Given the description of an element on the screen output the (x, y) to click on. 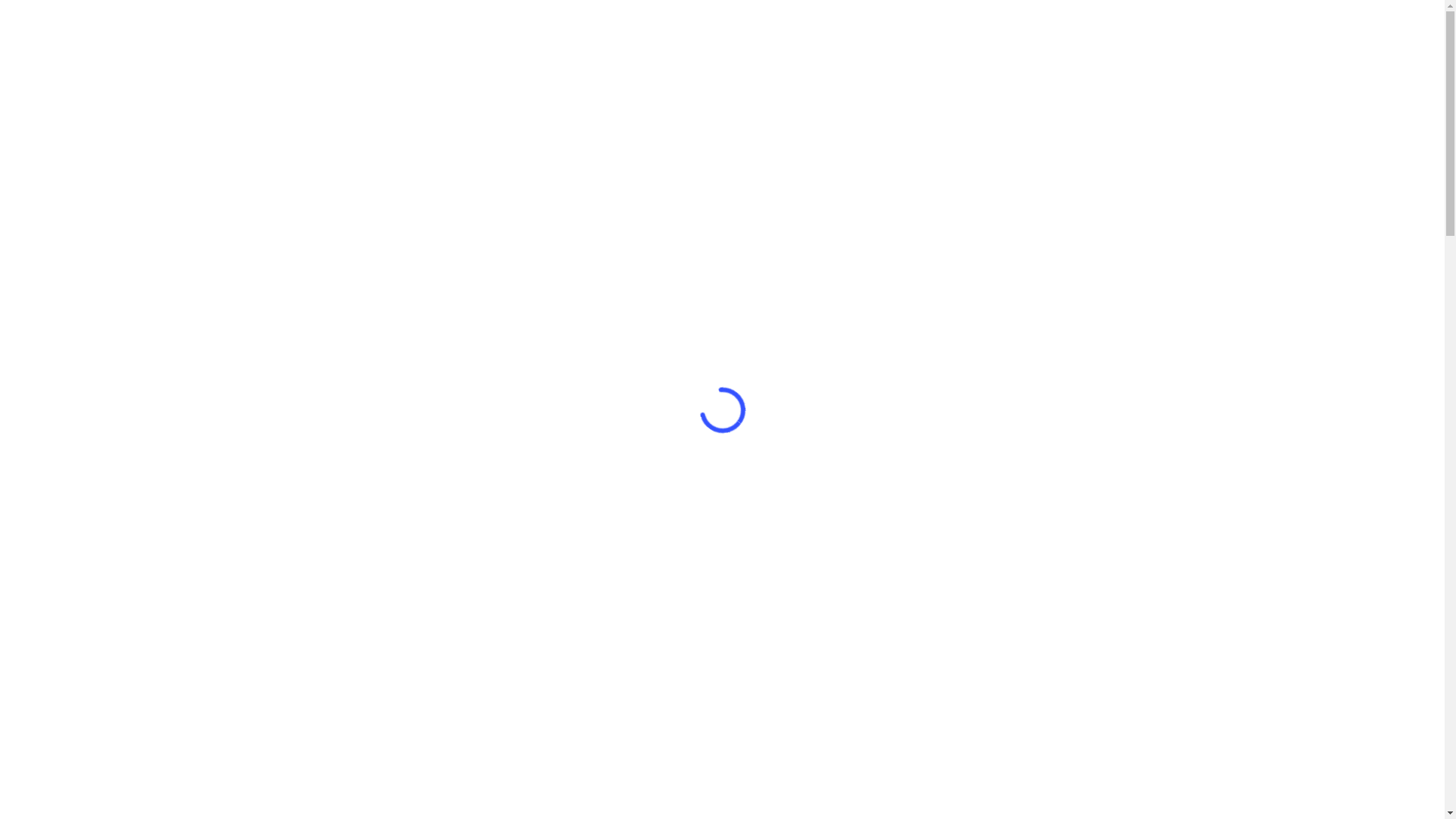
Services Element type: text (174, 35)
Call: (03) 9016 9486 Element type: text (1300, 35)
About LID Element type: text (331, 35)
Capability Statement Element type: text (636, 35)
Contact Us Element type: text (508, 35)
Resources Element type: text (418, 35)
Projects Element type: text (249, 35)
Home Element type: text (111, 35)
